Given the description of an element on the screen output the (x, y) to click on. 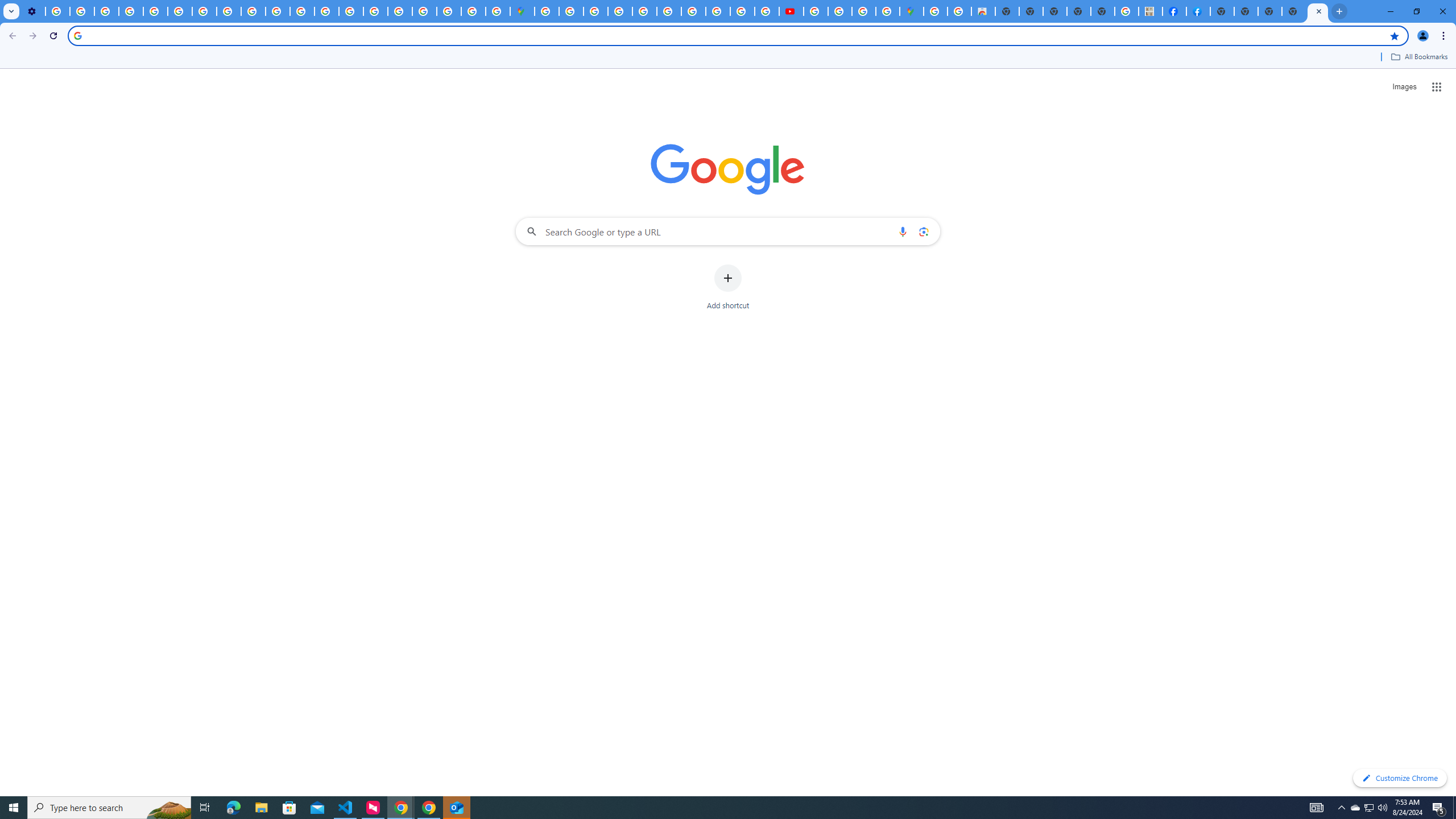
Sign in - Google Accounts (424, 11)
Search Google or type a URL (727, 230)
Bookmarks (728, 58)
Terms and Conditions (644, 11)
Privacy Checkup (277, 11)
New Tab (1270, 11)
YouTube (180, 11)
Sign Up for Facebook (1197, 11)
Google Maps (522, 11)
